Given the description of an element on the screen output the (x, y) to click on. 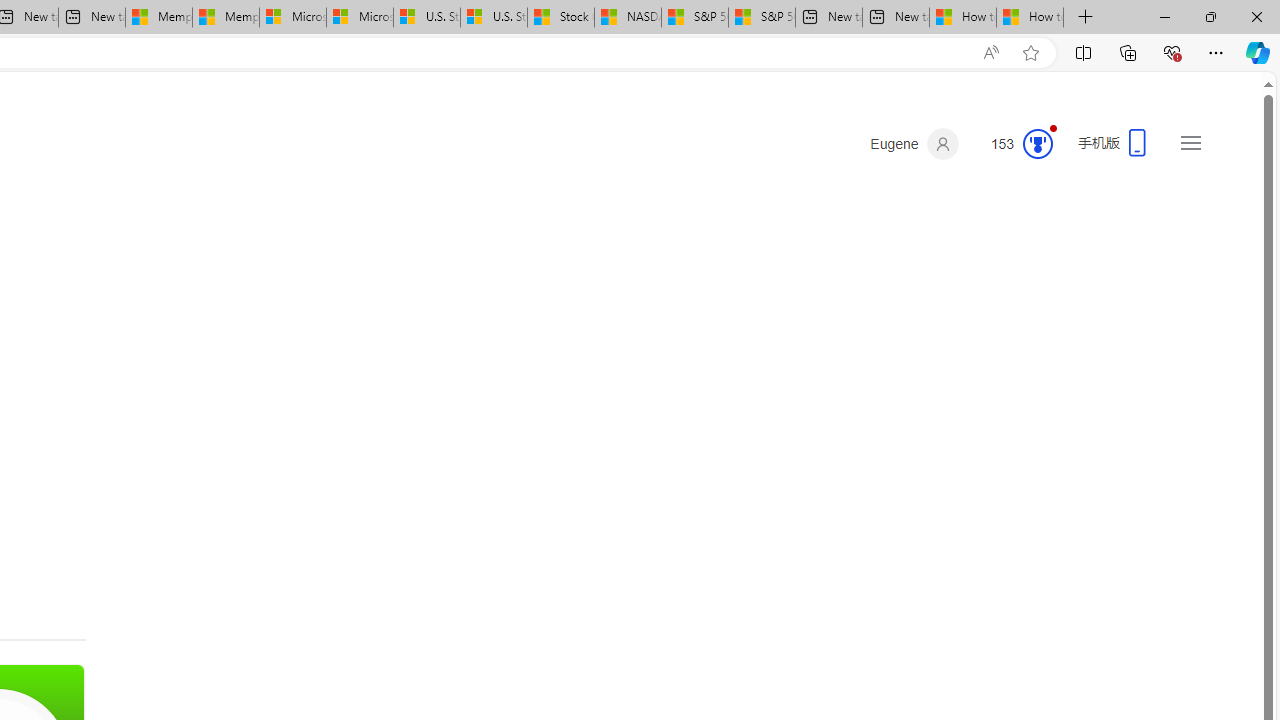
Eugene (914, 143)
Settings and quick links (1190, 142)
